Given the description of an element on the screen output the (x, y) to click on. 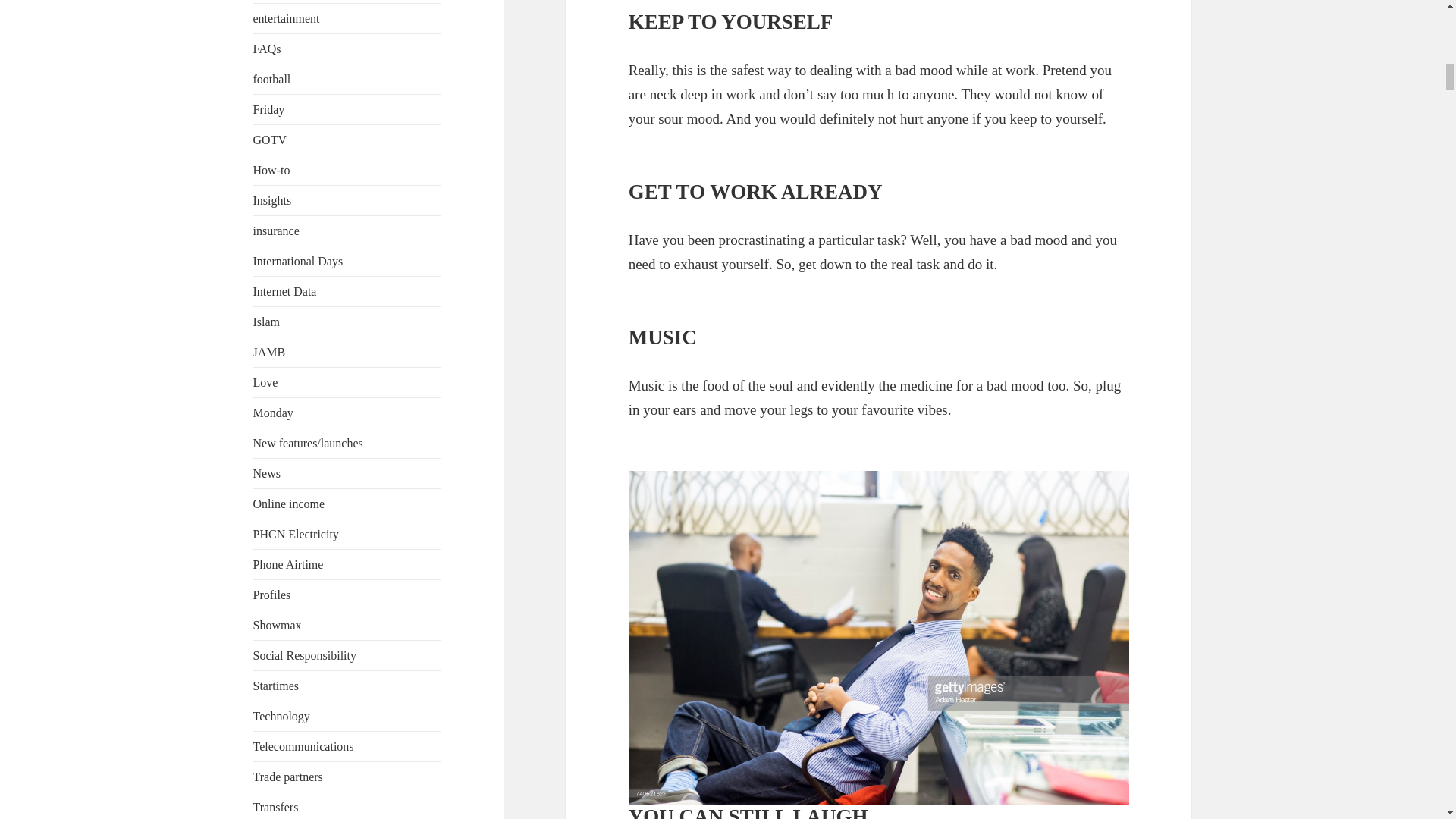
Internet Data (285, 291)
Friday (269, 109)
entertainment (286, 18)
FAQs (267, 48)
International Days (298, 260)
How-to (271, 169)
Islam (267, 321)
football (272, 78)
Insights (272, 200)
insurance (276, 230)
